Given the description of an element on the screen output the (x, y) to click on. 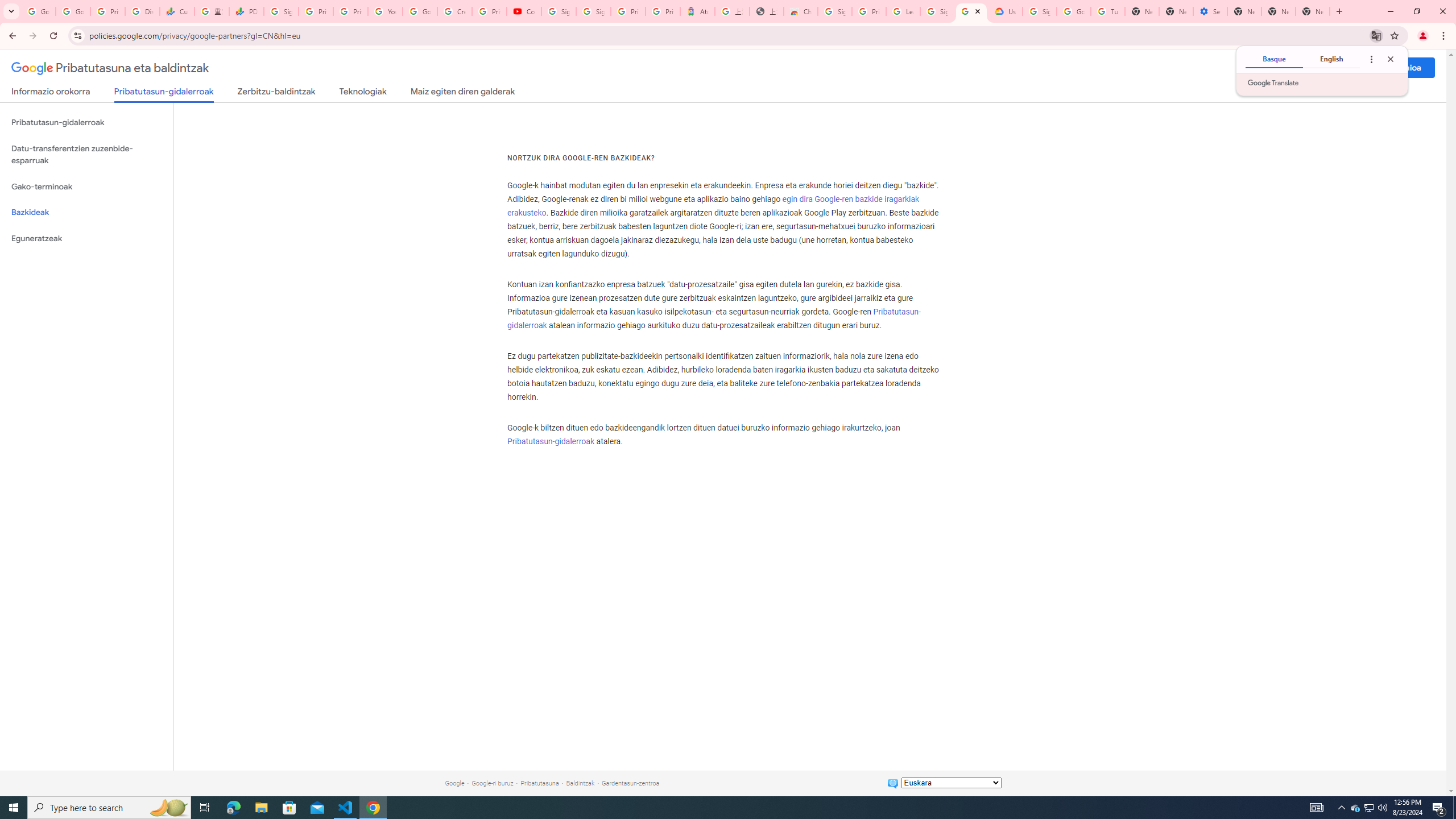
Settings - Addresses and more (1209, 11)
Pribatutasuna (539, 783)
Sign in - Google Accounts (557, 11)
Google Workspace Admin Community (38, 11)
Translate options (1370, 58)
Translate this page (1376, 35)
Atour Hotel - Google hotels (697, 11)
